Given the description of an element on the screen output the (x, y) to click on. 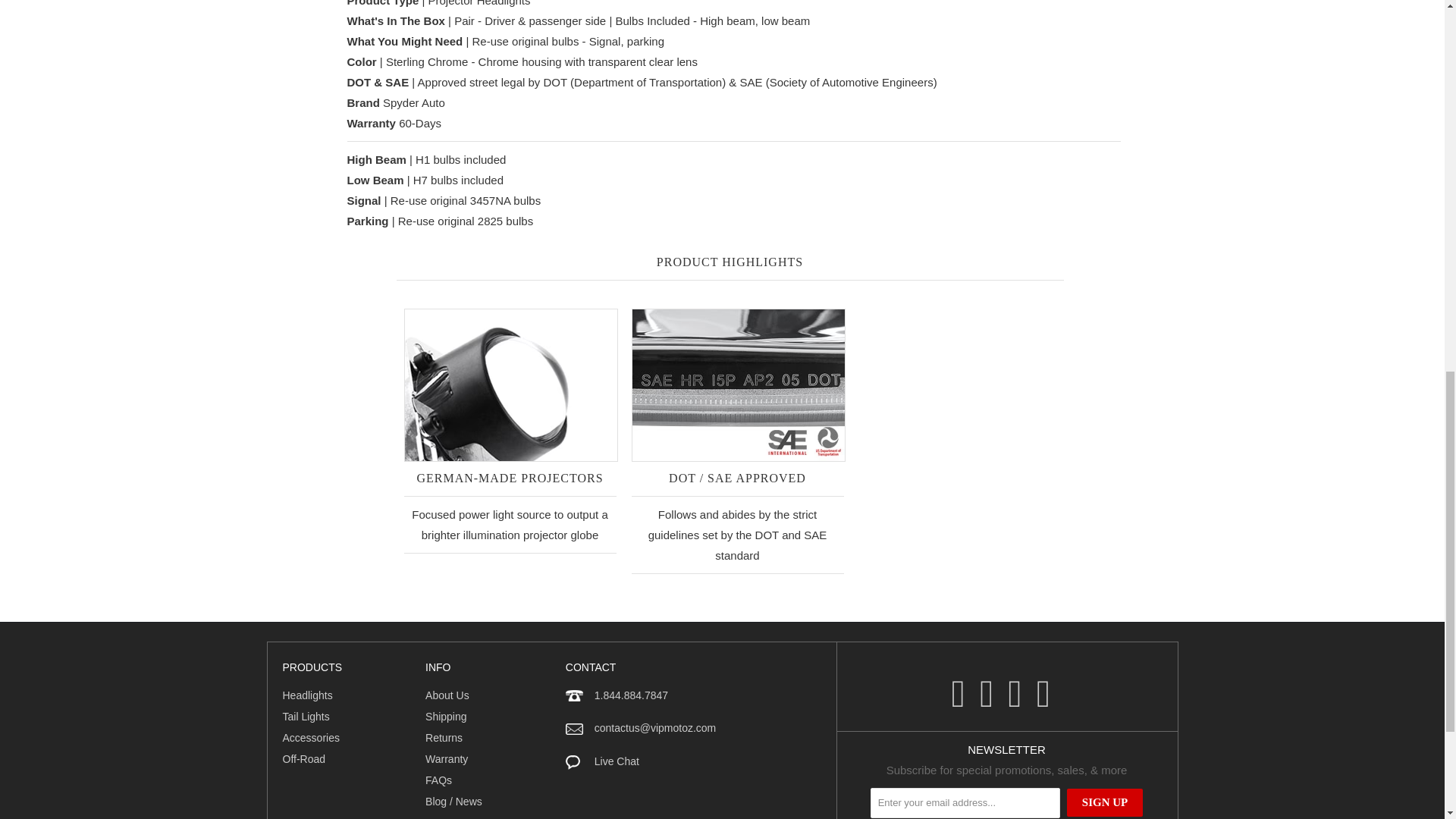
Sign Up (1104, 802)
